Given the description of an element on the screen output the (x, y) to click on. 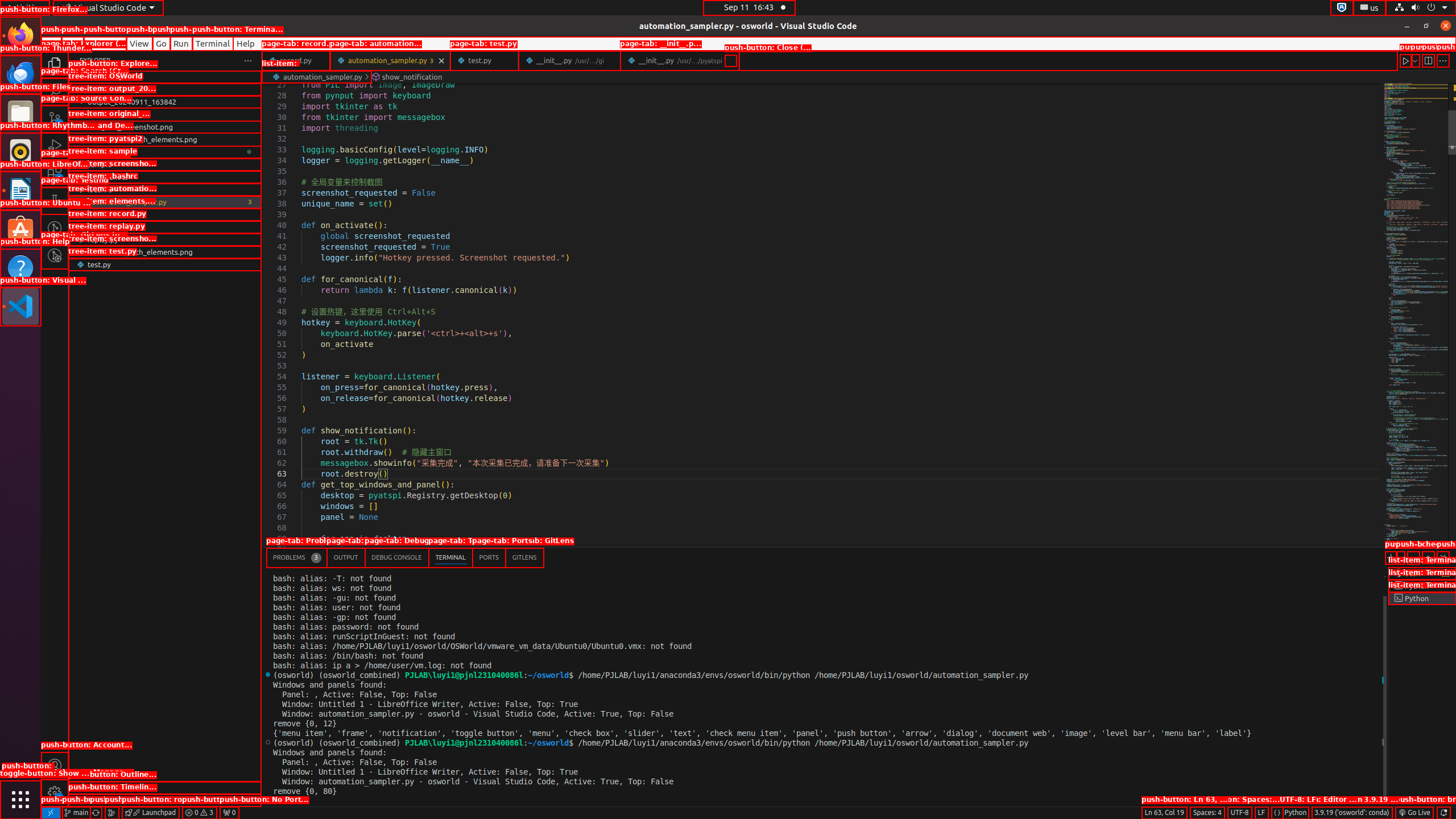
Source Control (Ctrl+Shift+G G) - 1 pending changes Element type: page-tab (54, 118)
View Element type: push-button (139, 43)
Firefox Web Browser Element type: push-button (20, 35)
record.py Element type: page-tab (295, 60)
automation_sampler.py Element type: tree-item (164, 201)
